Given the description of an element on the screen output the (x, y) to click on. 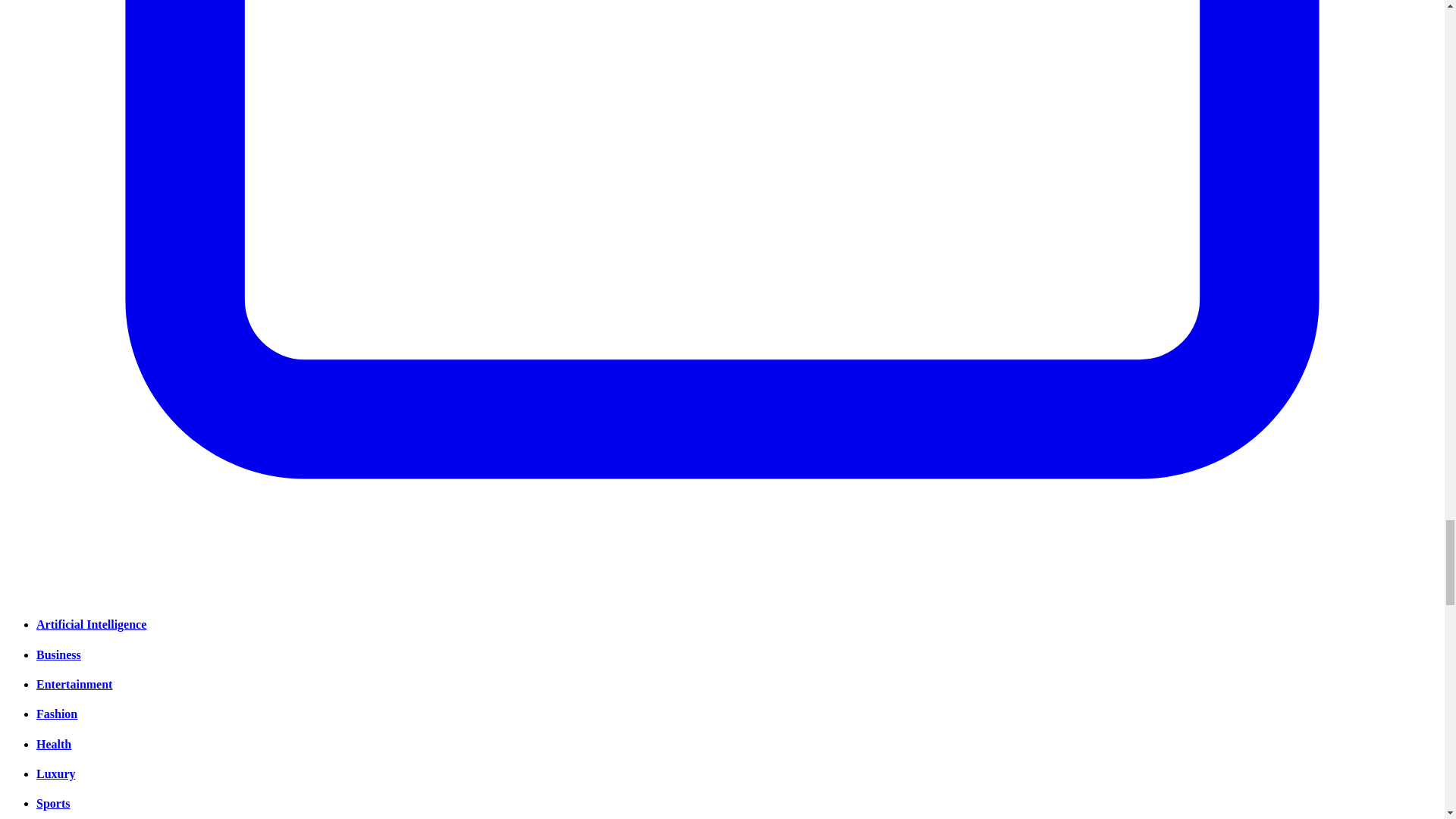
Luxury (55, 773)
Health (53, 744)
Business (58, 654)
Fashion (56, 713)
Entertainment (74, 684)
Artificial Intelligence (91, 624)
Sports (52, 802)
